Given the description of an element on the screen output the (x, y) to click on. 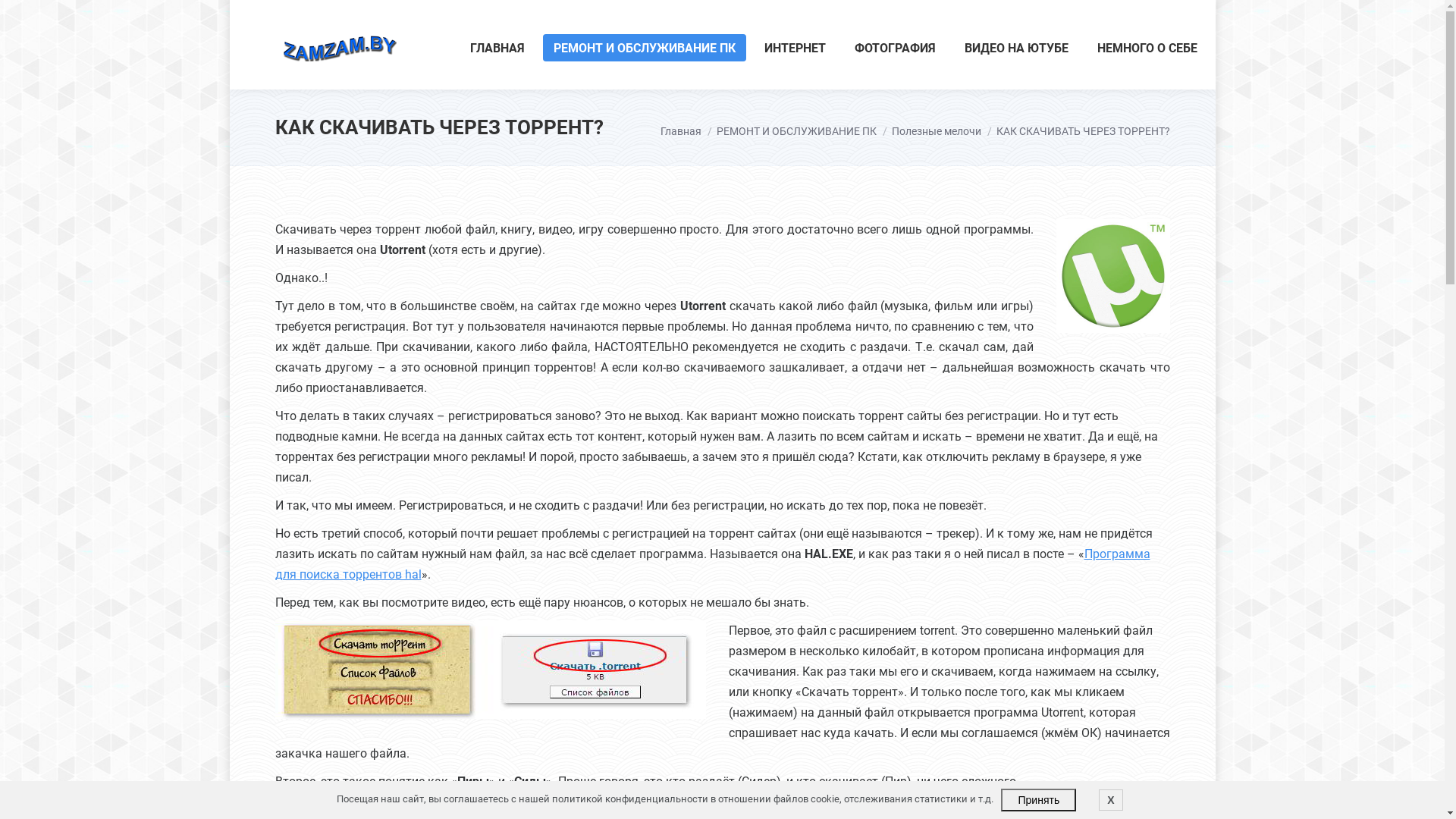
X Element type: text (1110, 799)
